Given the description of an element on the screen output the (x, y) to click on. 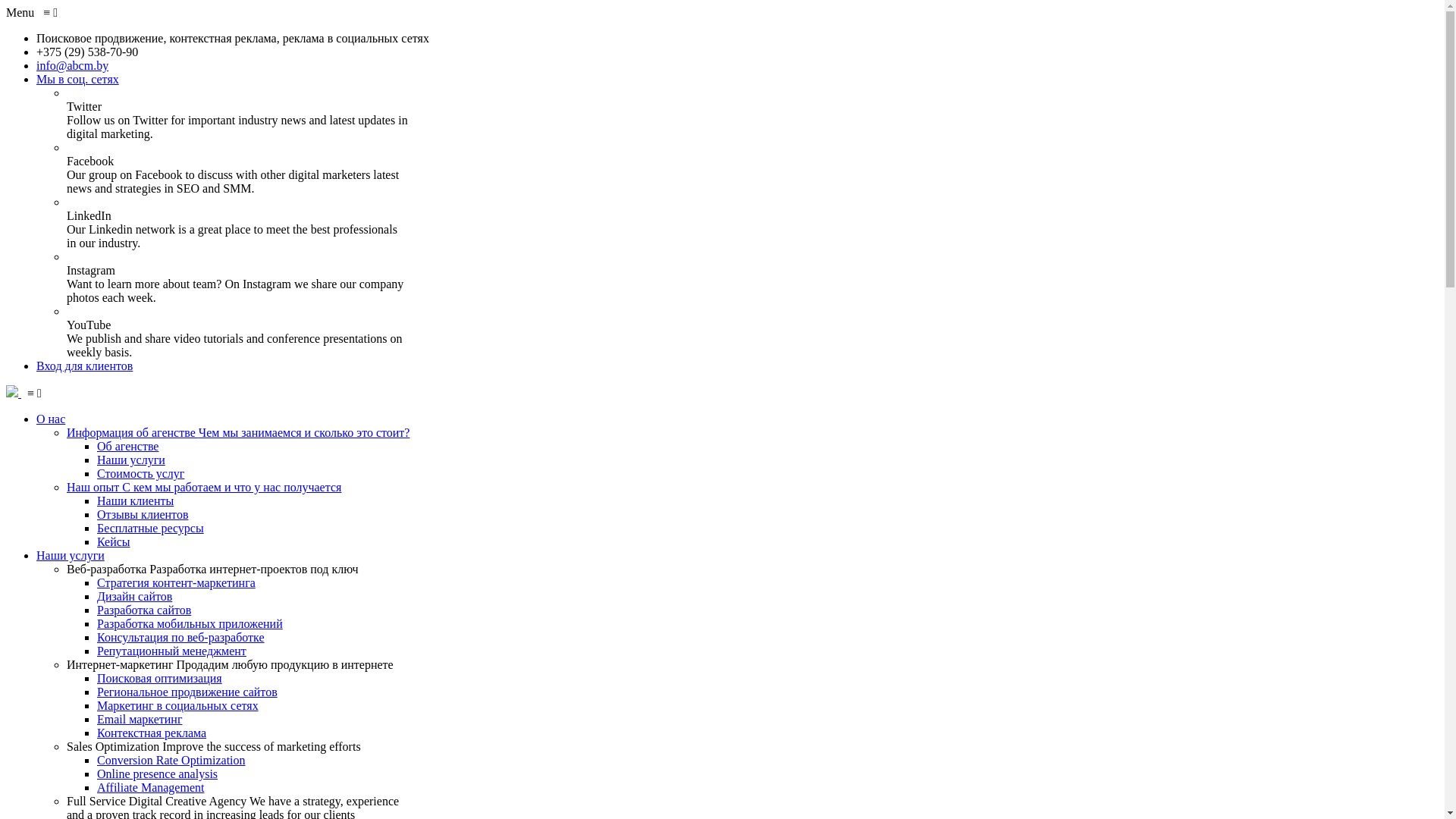
Online presence analysis Element type: text (157, 773)
Conversion Rate Optimization Element type: text (171, 759)
info@abcm.by Element type: text (72, 65)
Affiliate Management Element type: text (150, 787)
ABC Marketing Element type: hover (13, 392)
